Given the description of an element on the screen output the (x, y) to click on. 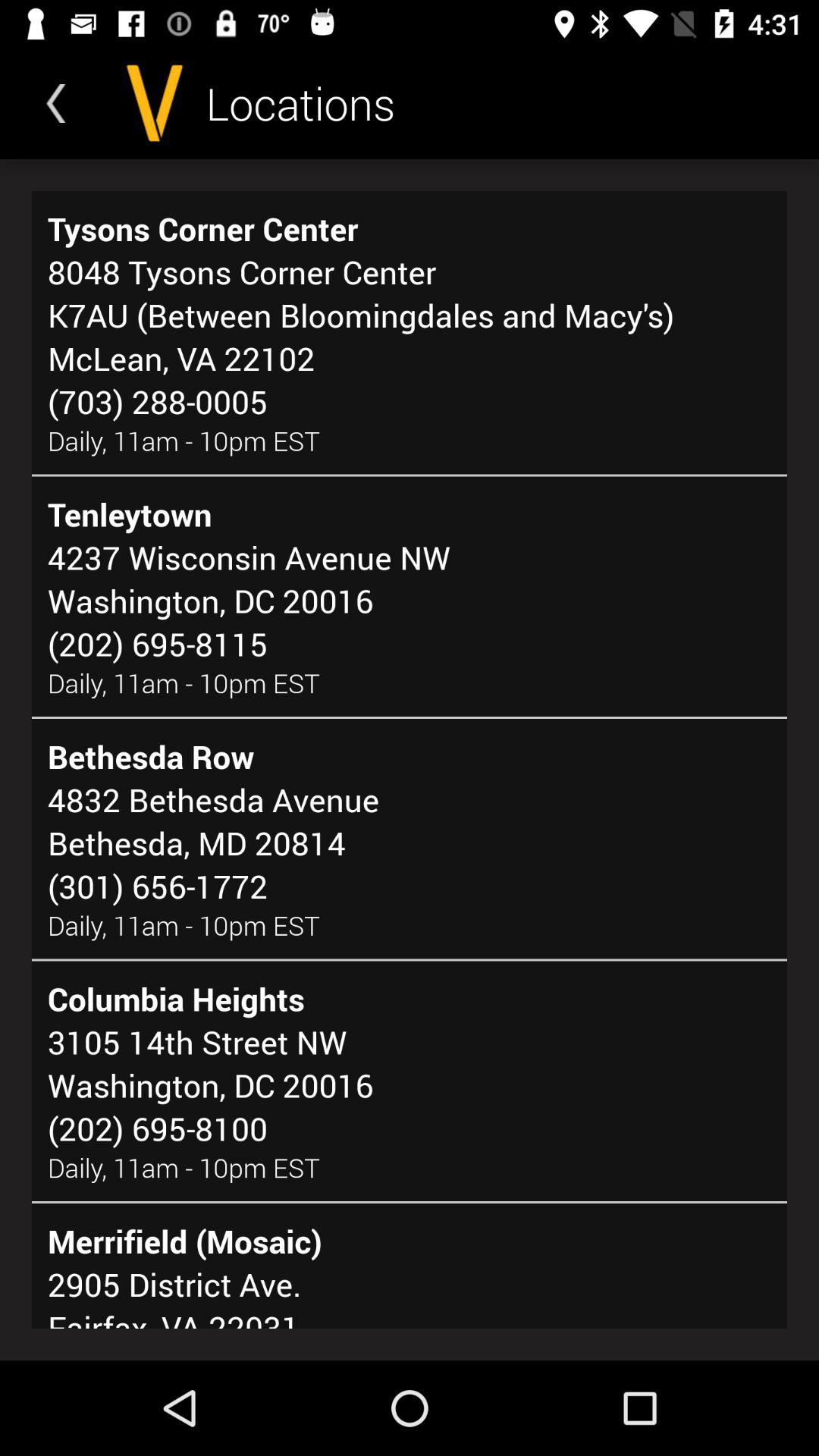
tap the icon above the tysons corner center item (55, 103)
